Given the description of an element on the screen output the (x, y) to click on. 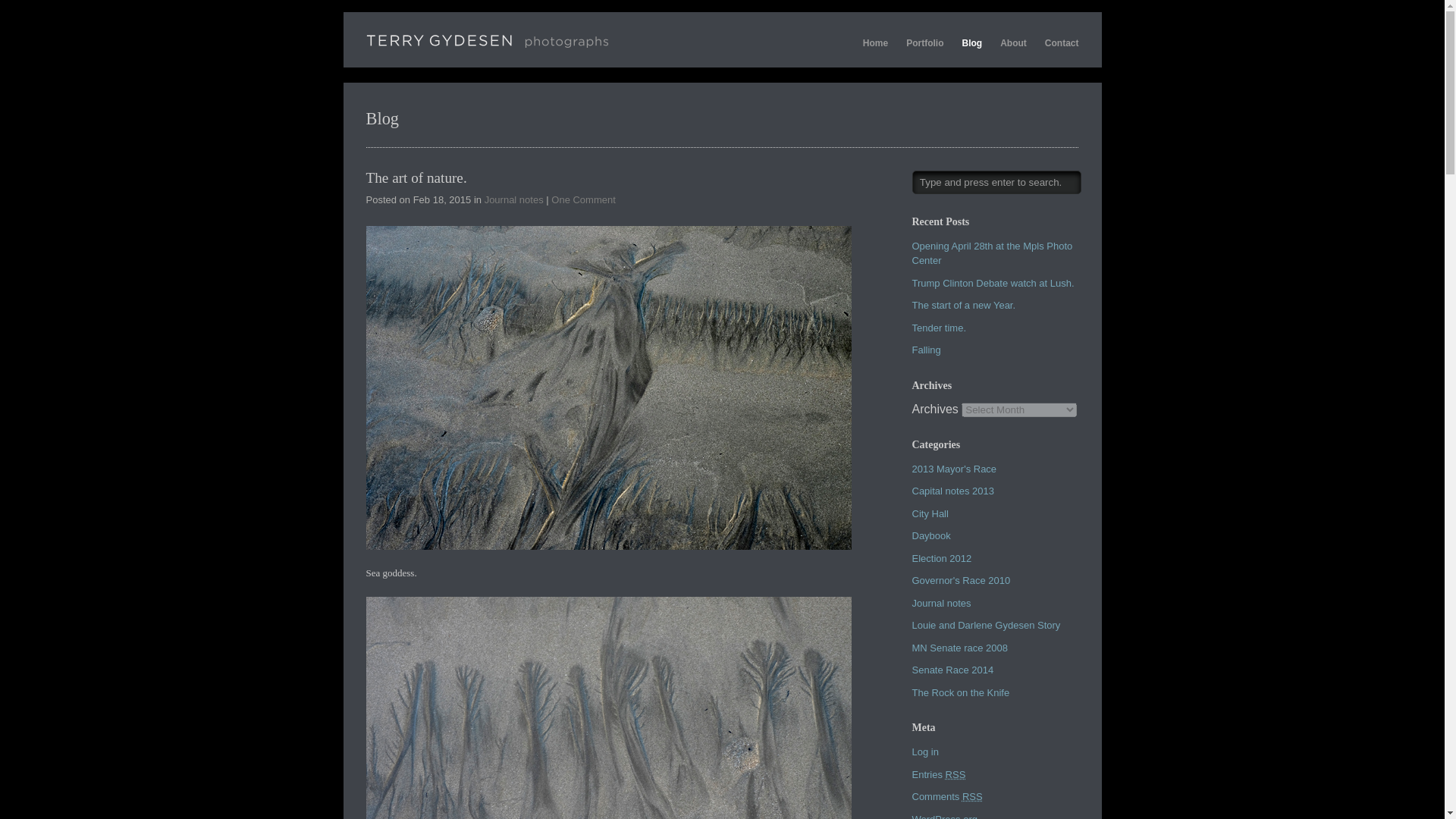
Home (875, 42)
Senate Race 2014 (951, 669)
Log in (924, 751)
City Hall (929, 513)
Governor's Race 2010 (960, 580)
Louie and Darlene Gydesen Story (985, 624)
The art of nature. (415, 177)
One Comment (583, 199)
Really Simple Syndication (955, 774)
